Given the description of an element on the screen output the (x, y) to click on. 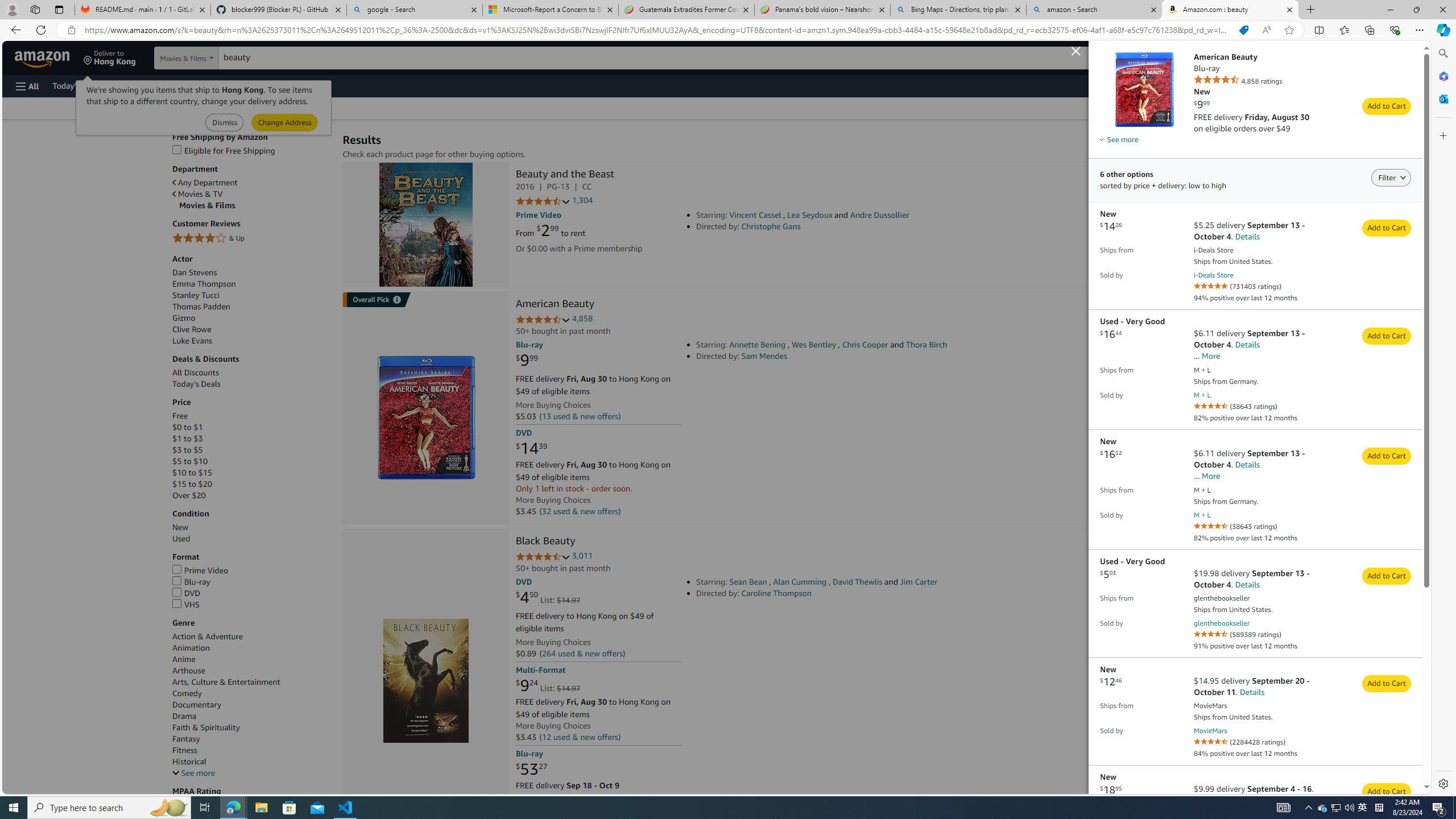
Outlook (1442, 98)
Dan Stevens (251, 272)
Chris Cooper (864, 344)
Anime (183, 659)
Customize (1442, 135)
Fitness (251, 750)
Amazon (43, 57)
Vincent Cassel (755, 214)
About details for this option. (1101, 139)
Amazon.com : beauty (1230, 9)
Eligible for Free Shipping (223, 150)
Prime Video (251, 570)
4,858 (582, 318)
$15 to $20 (191, 484)
See more (251, 773)
